Given the description of an element on the screen output the (x, y) to click on. 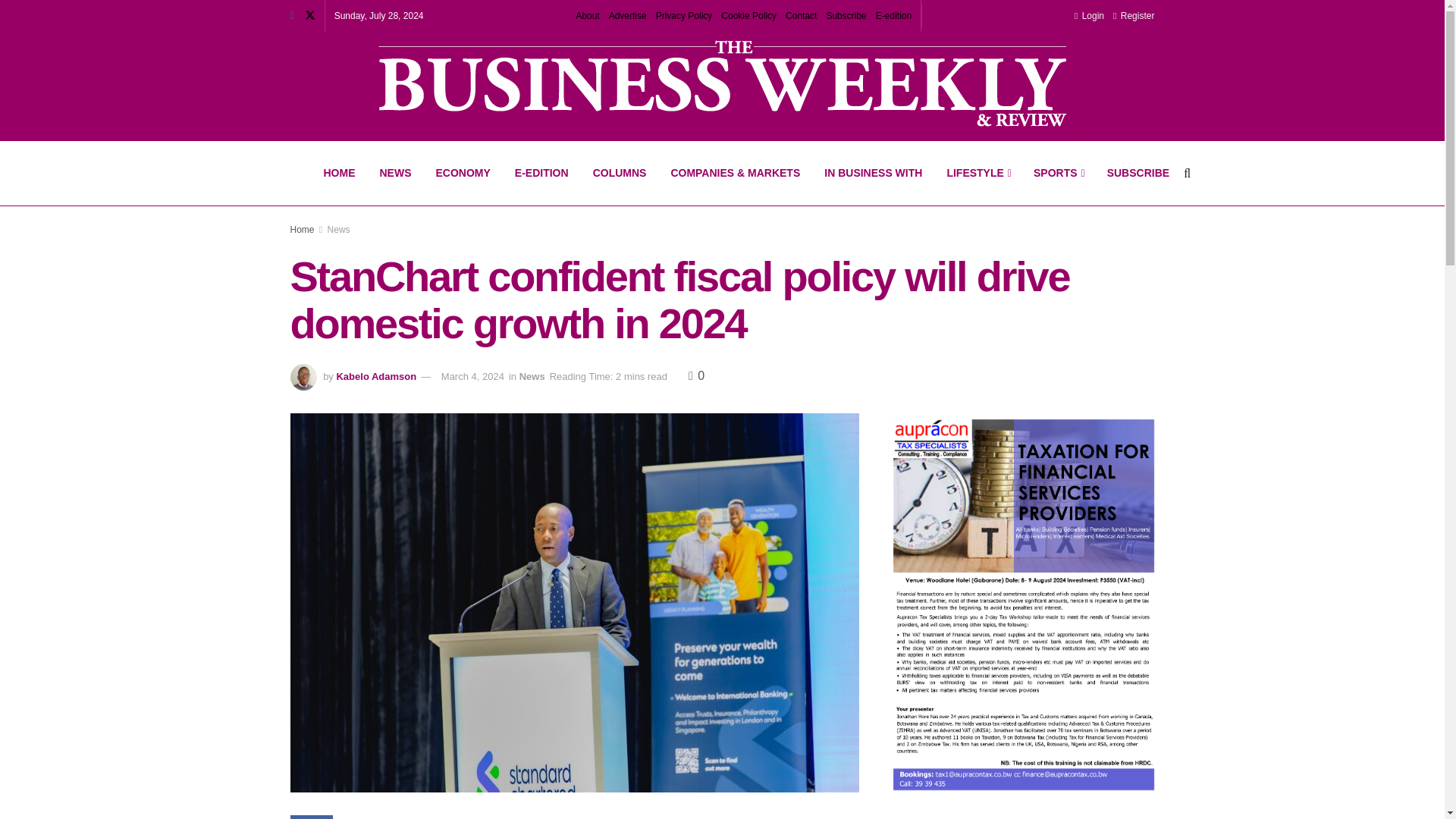
SUBSCRIBE (1137, 172)
Register (1133, 15)
NEWS (394, 172)
HOME (338, 172)
Privacy Policy (684, 15)
SPORTS (1058, 172)
Cookie Policy (748, 15)
COLUMNS (619, 172)
Contact (801, 15)
IN BUSINESS WITH (873, 172)
E-EDITION (541, 172)
About (586, 15)
Subscribe (845, 15)
ECONOMY (462, 172)
LIFESTYLE (978, 172)
